Given the description of an element on the screen output the (x, y) to click on. 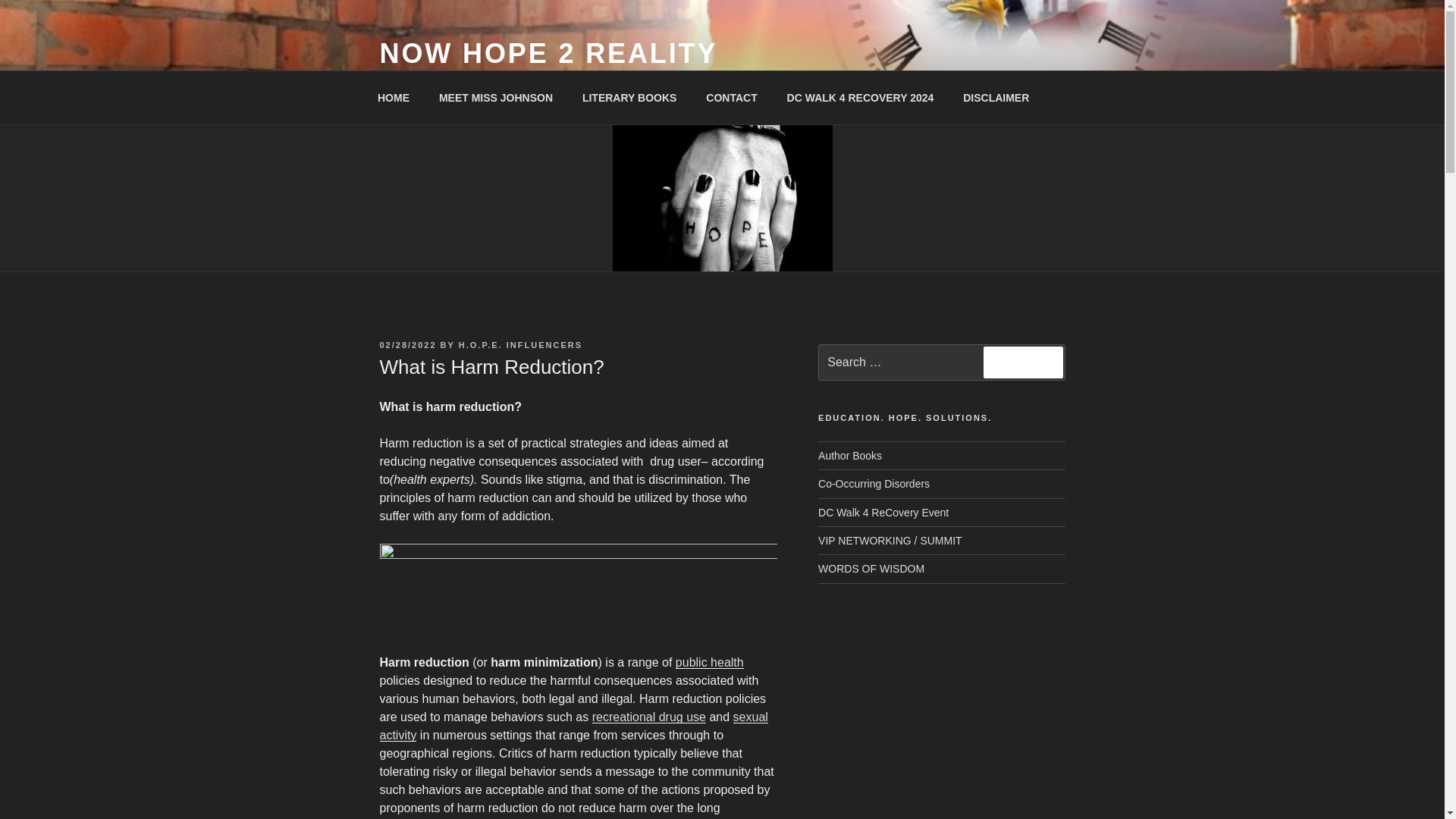
DC Walk 4 ReCovery Event (883, 512)
Search (1023, 362)
DISCLAIMER (996, 97)
HOME (393, 97)
MEET MISS JOHNSON (495, 97)
public health (709, 662)
H.O.P.E. INFLUENCERS (520, 344)
Co-Occurring Disorders (874, 483)
Author Books (850, 455)
NOW HOPE 2 REALITY (547, 52)
